Given the description of an element on the screen output the (x, y) to click on. 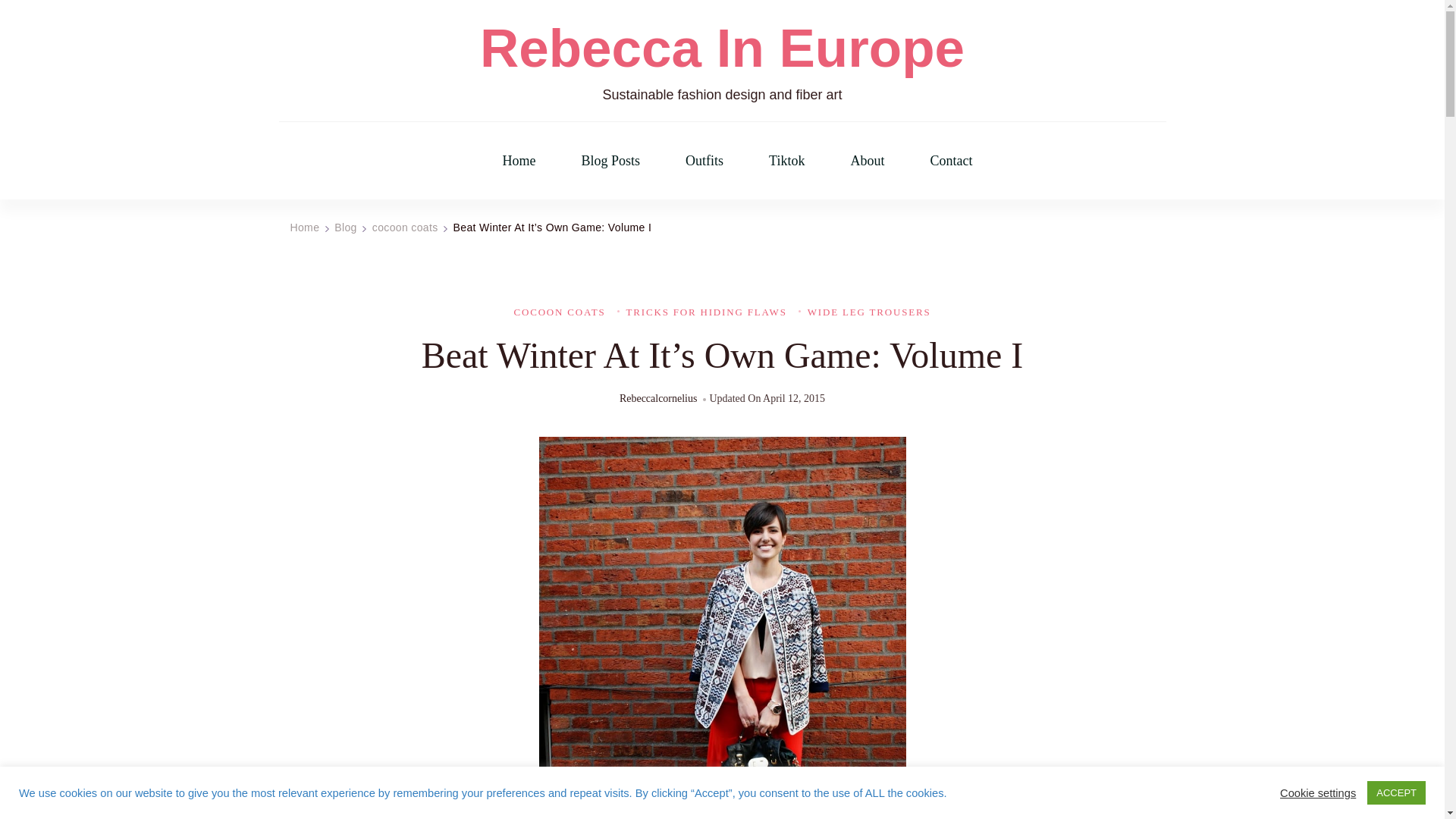
April 12, 2015 (793, 398)
cocoon coats (405, 227)
WIDE LEG TROUSERS (864, 312)
Outfits (704, 160)
Blog Posts (610, 160)
Tiktok (786, 160)
About (866, 160)
Home (303, 227)
Rebeccalcornelius (658, 398)
Blog (345, 227)
Contact (951, 160)
COCOON COATS (559, 312)
Rebecca In Europe (721, 48)
TRICKS FOR HIDING FLAWS (702, 312)
Home (518, 160)
